Given the description of an element on the screen output the (x, y) to click on. 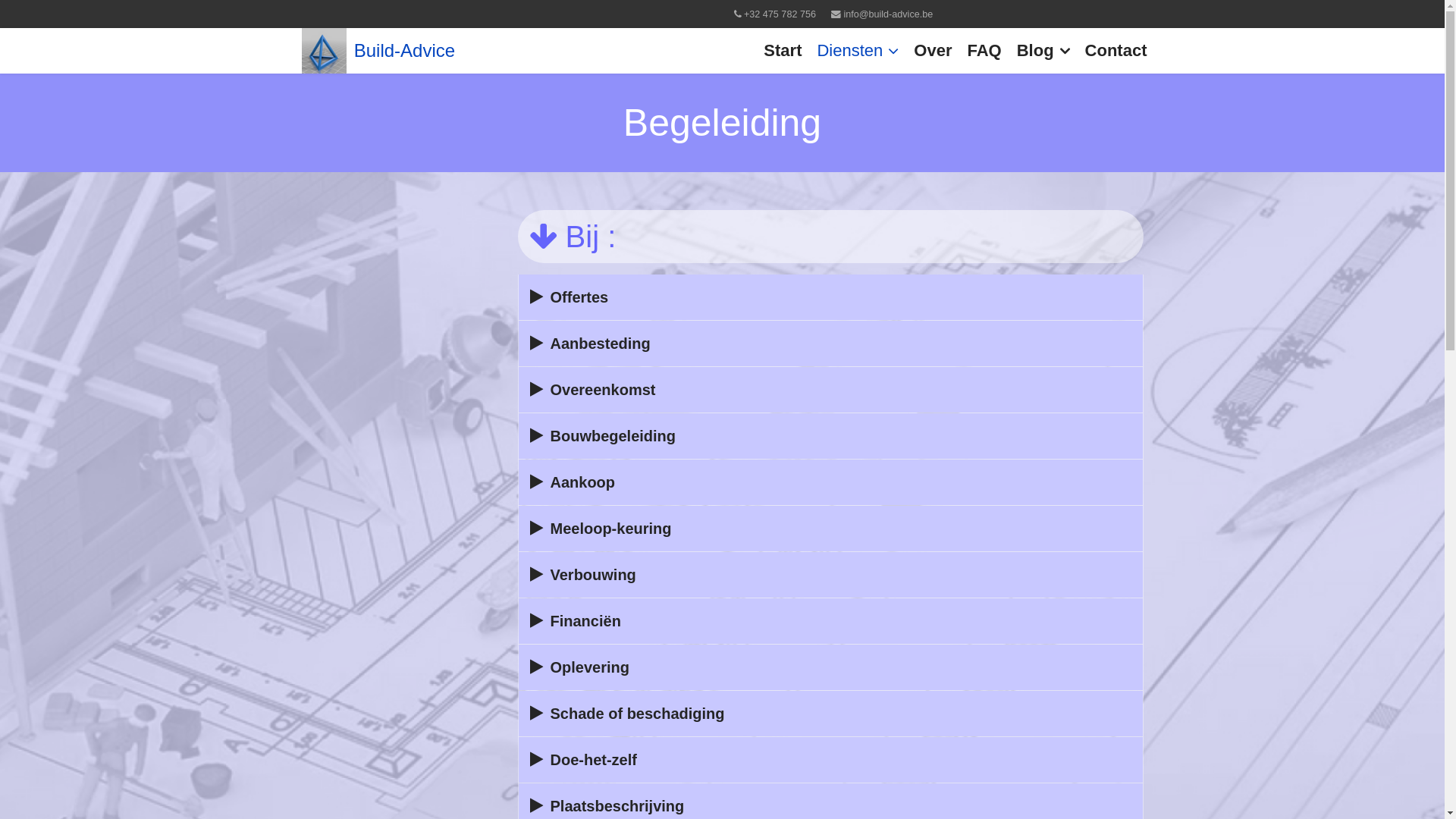
Blog Element type: text (1043, 50)
Build-Advice Element type: text (400, 50)
Diensten Element type: text (857, 50)
+32 475 782 756 Element type: text (779, 14)
Start Element type: text (782, 50)
info@build-advice.be Element type: text (887, 14)
Over Element type: text (932, 50)
FAQ Element type: text (983, 50)
Contact Element type: text (1115, 50)
